Given the description of an element on the screen output the (x, y) to click on. 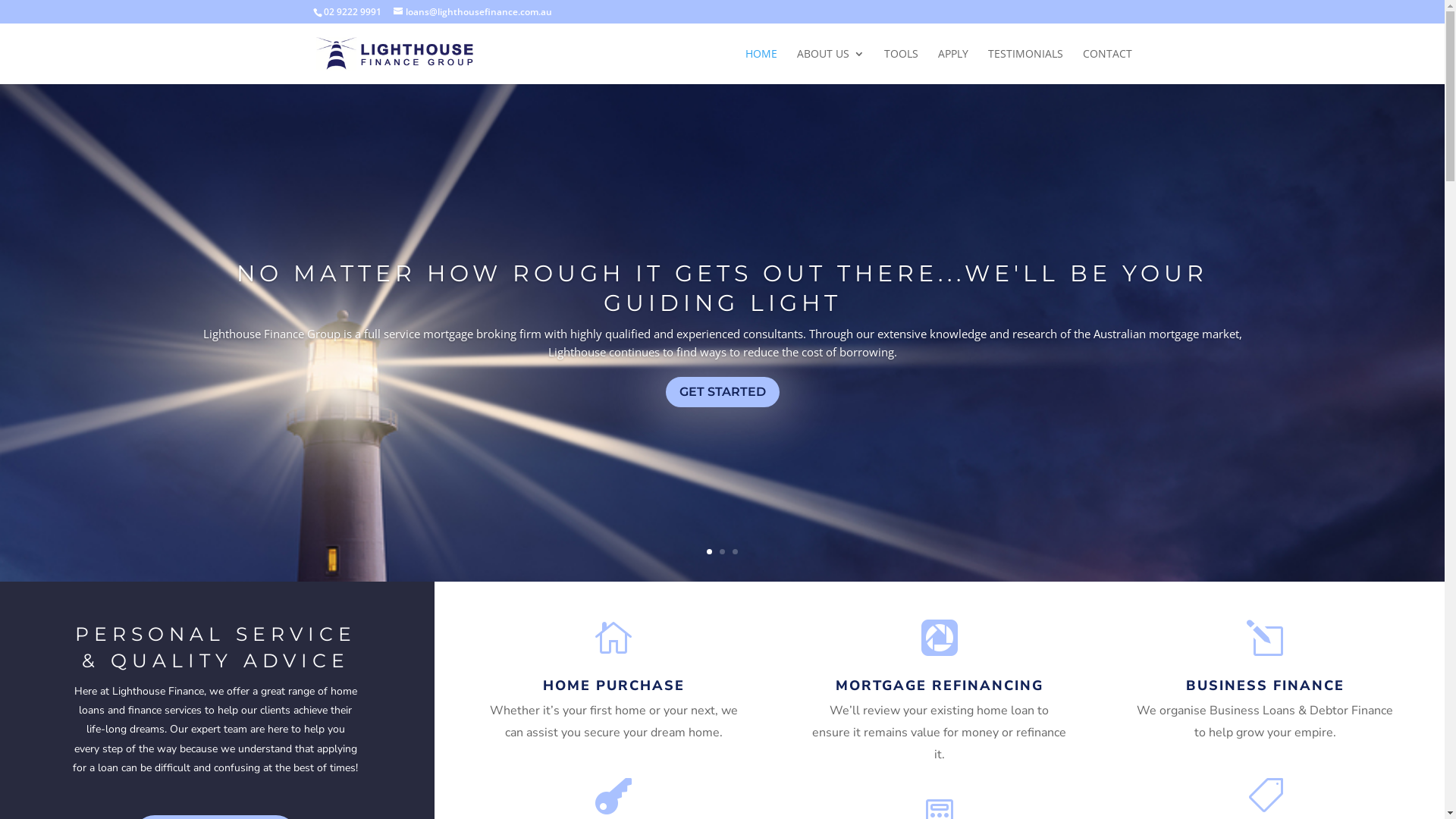
2 Element type: text (721, 551)
TESTIMONIALS Element type: text (1024, 66)
HOME Element type: text (760, 66)
GET STARTED Element type: text (722, 391)
loans@lighthousefinance.com.au Element type: text (471, 11)
CONTACT Element type: text (1107, 66)
APPLY Element type: text (952, 66)
TOOLS Element type: text (901, 66)
3 Element type: text (734, 551)
ABOUT US Element type: text (829, 66)
1 Element type: text (709, 551)
